Given the description of an element on the screen output the (x, y) to click on. 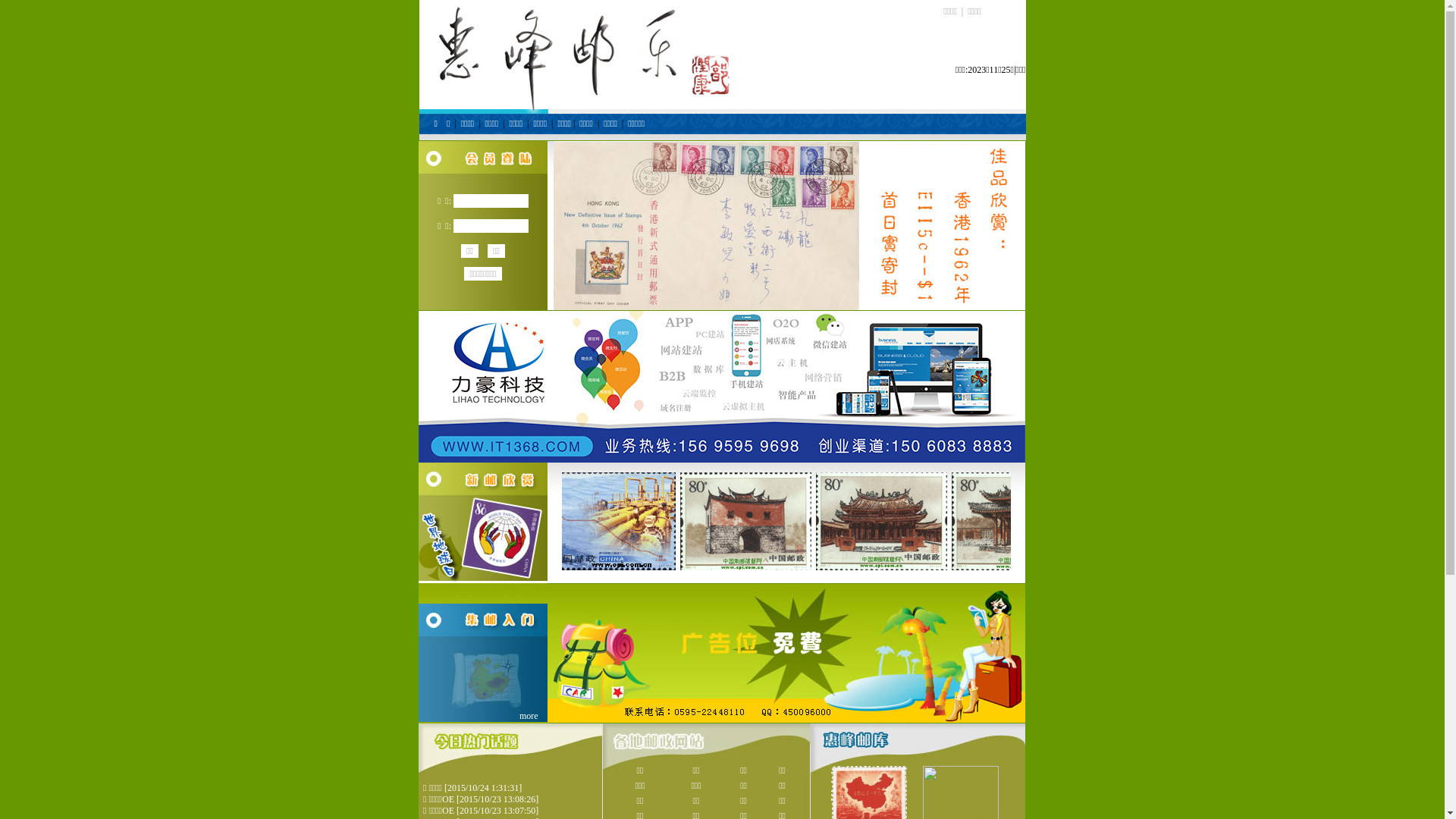
more Element type: text (528, 715)
